Given the description of an element on the screen output the (x, y) to click on. 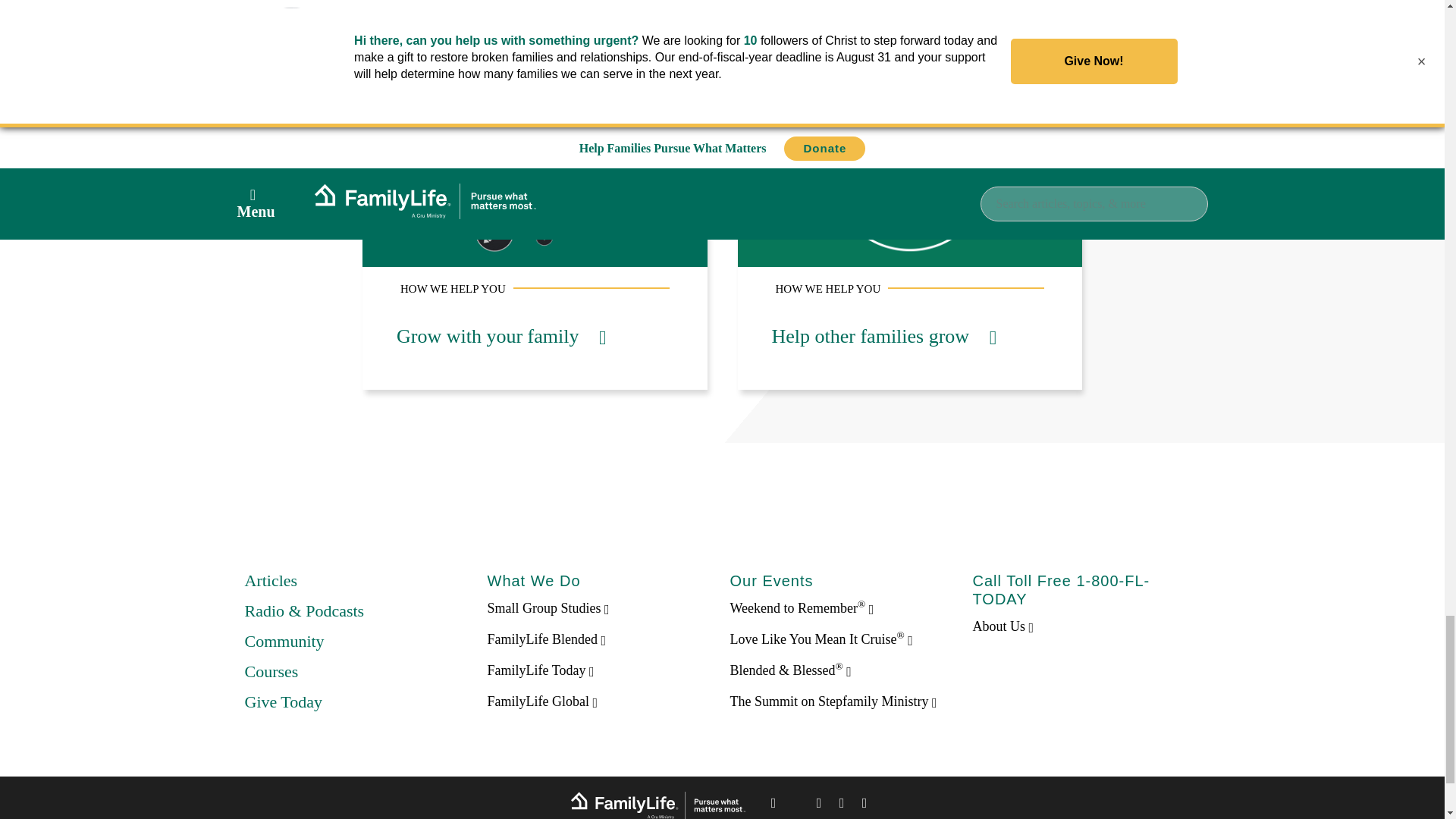
Courses (271, 670)
Pinterest (818, 805)
Instagram (841, 805)
FamilyLife Global (541, 701)
Community (283, 640)
Small Group Studies (547, 607)
Facebook (773, 805)
FamilyLife Today (540, 670)
Grow with your family (500, 336)
FamilyLife Blended (545, 639)
Help other families grow (884, 336)
Give Today (282, 701)
Articles (270, 579)
Youtube (865, 805)
